Given the description of an element on the screen output the (x, y) to click on. 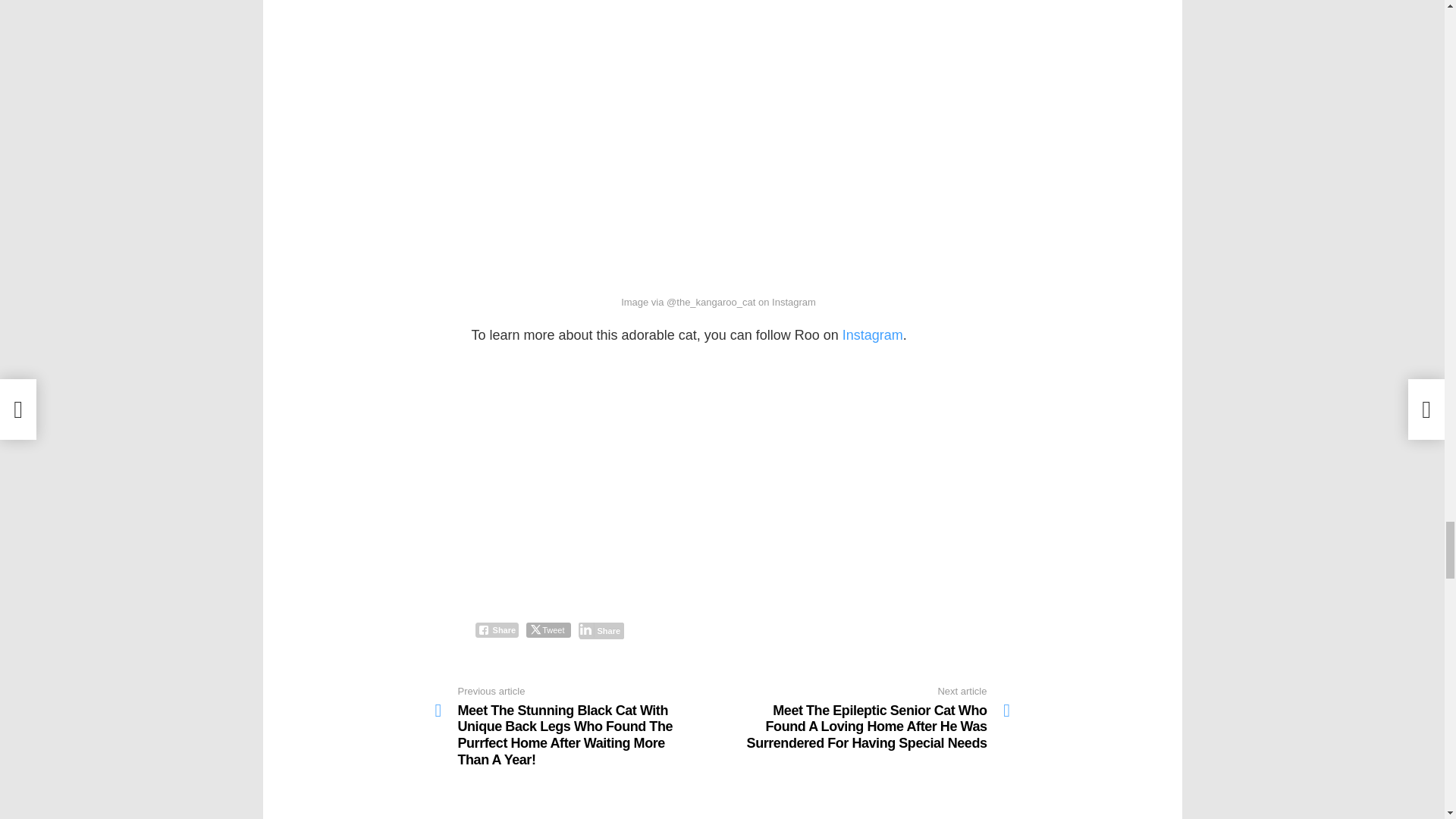
Share (601, 630)
Instagram (872, 335)
Tweet (547, 630)
Share (496, 630)
